Given the description of an element on the screen output the (x, y) to click on. 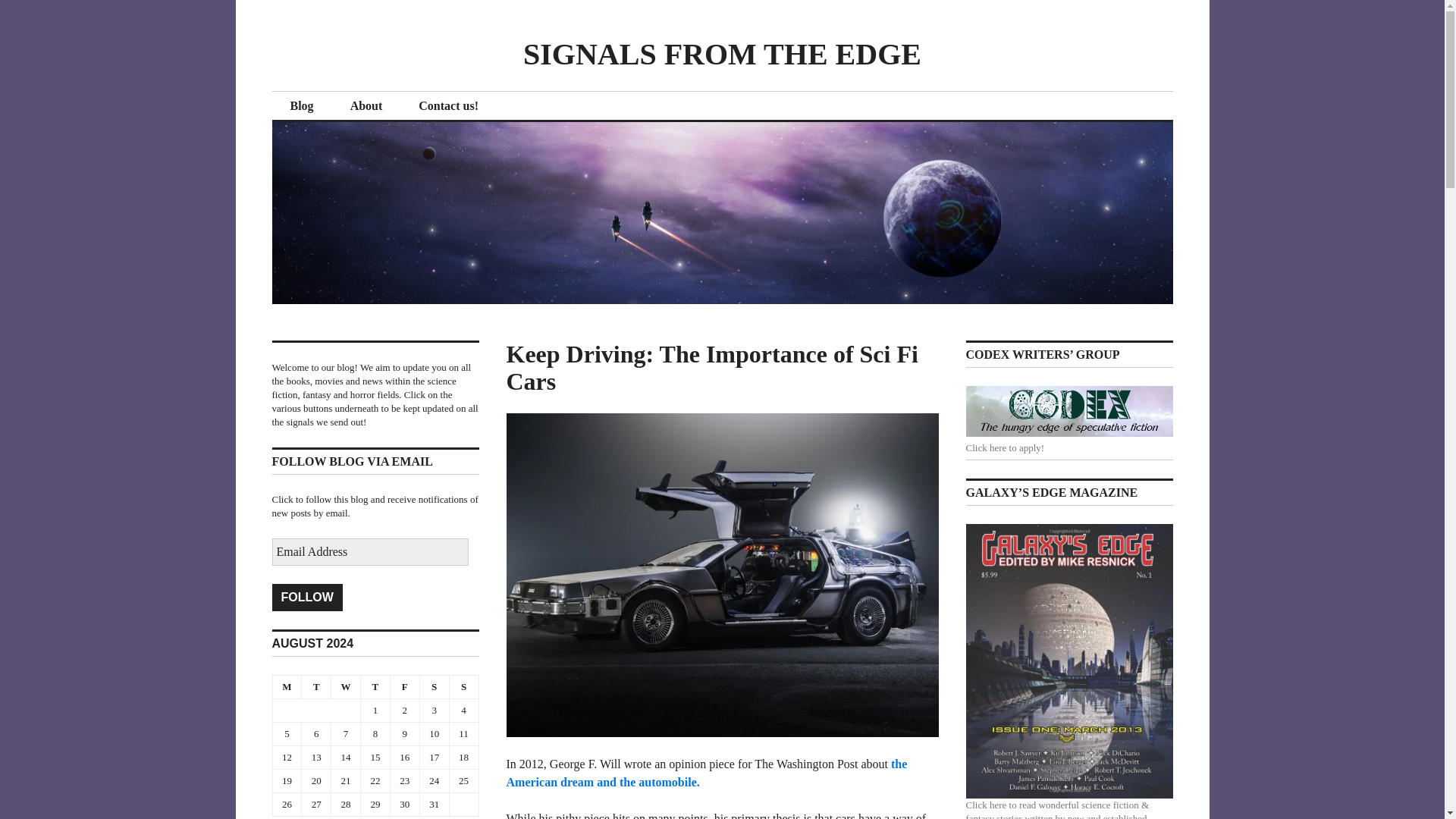
Wednesday (346, 686)
Contact us! (448, 105)
Friday (404, 686)
CODEX WRITERS' GROUP (1069, 410)
Saturday (433, 686)
Sunday (463, 686)
Thursday (375, 686)
Tuesday (316, 686)
Monday (286, 686)
SIGNALS FROM THE EDGE (721, 53)
